Given the description of an element on the screen output the (x, y) to click on. 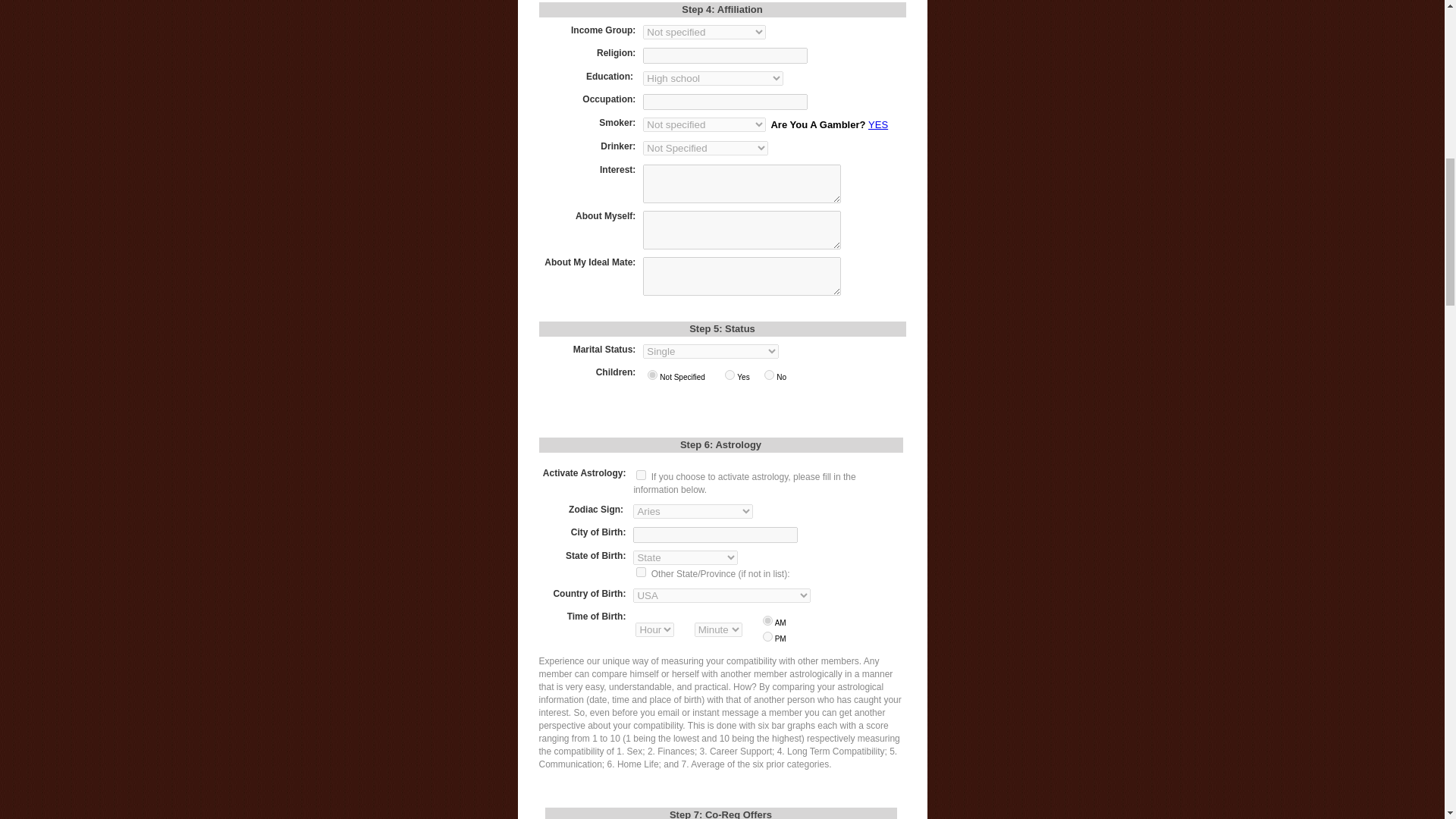
YES (877, 124)
